Given the description of an element on the screen output the (x, y) to click on. 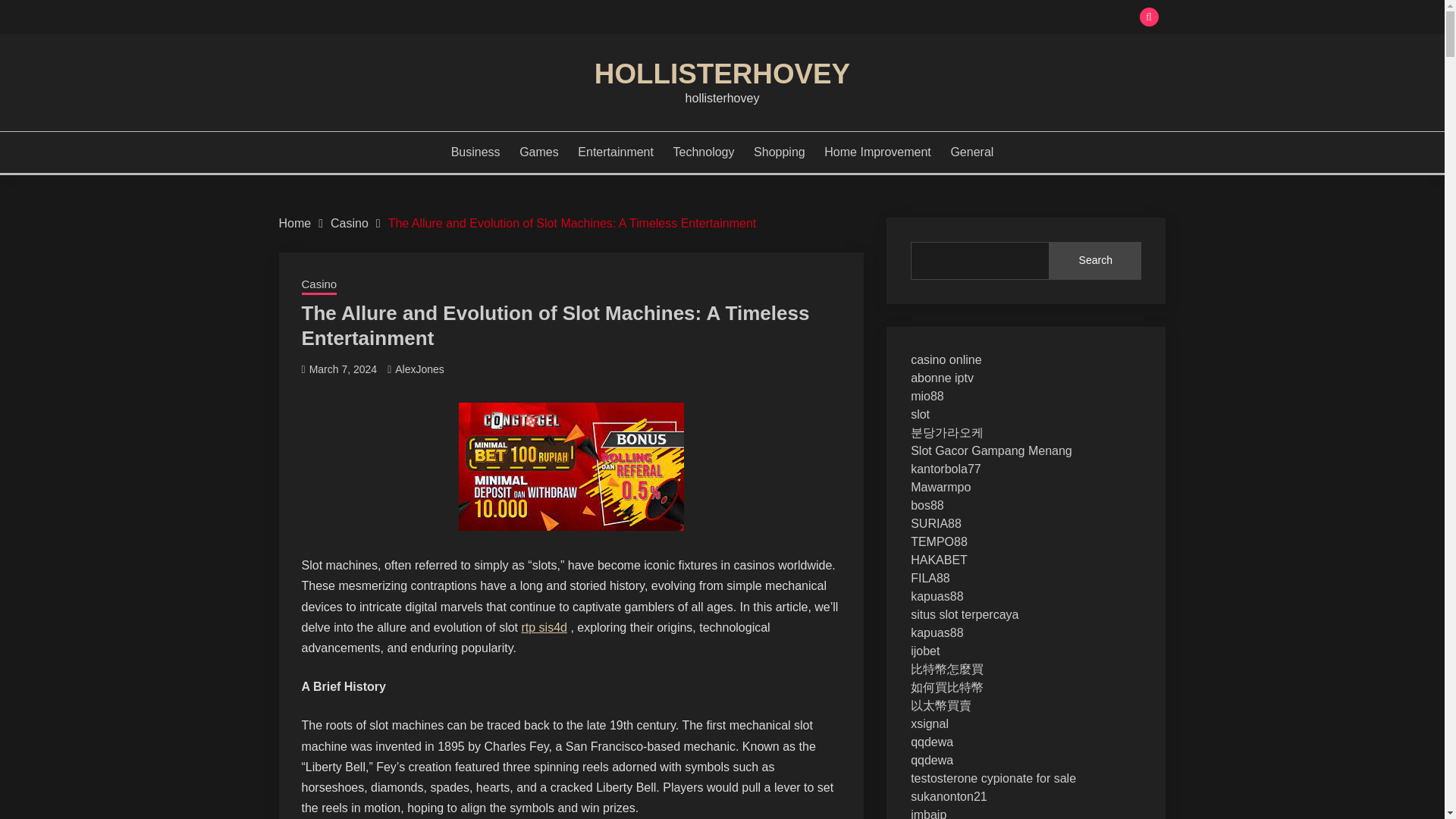
Search (1095, 260)
Entertainment (615, 152)
Games (539, 152)
Casino (349, 223)
Casino (319, 285)
Shopping (779, 152)
casino online (946, 359)
Technology (703, 152)
General (971, 152)
Search (832, 18)
